Given the description of an element on the screen output the (x, y) to click on. 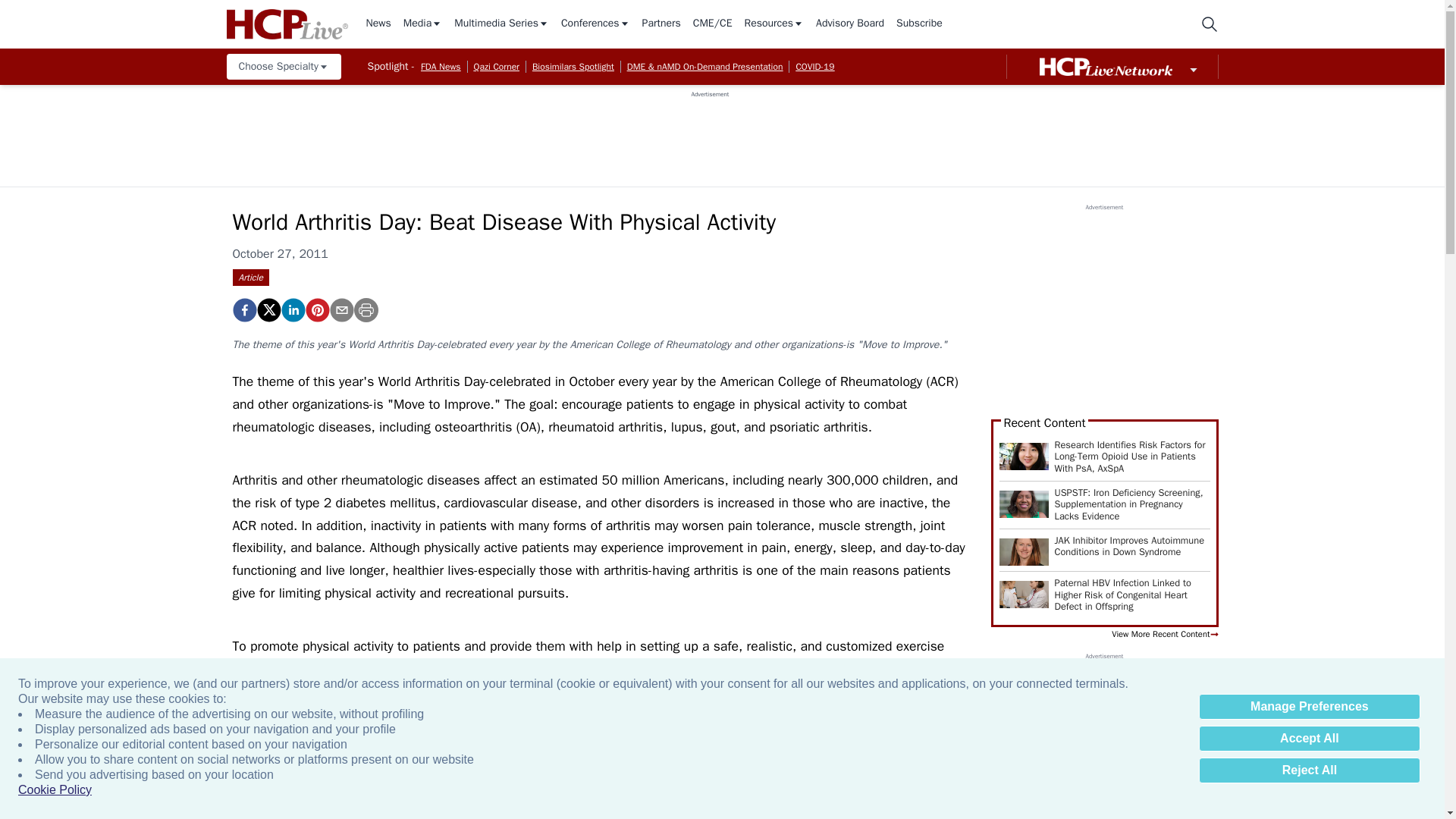
Reject All (1309, 769)
Advisory Board (849, 23)
Cookie Policy (54, 789)
Partners (661, 23)
Conferences (595, 23)
Media (422, 23)
3rd party ad content (709, 132)
News (377, 23)
Multimedia Series (501, 23)
Manage Preferences (1309, 706)
